Given the description of an element on the screen output the (x, y) to click on. 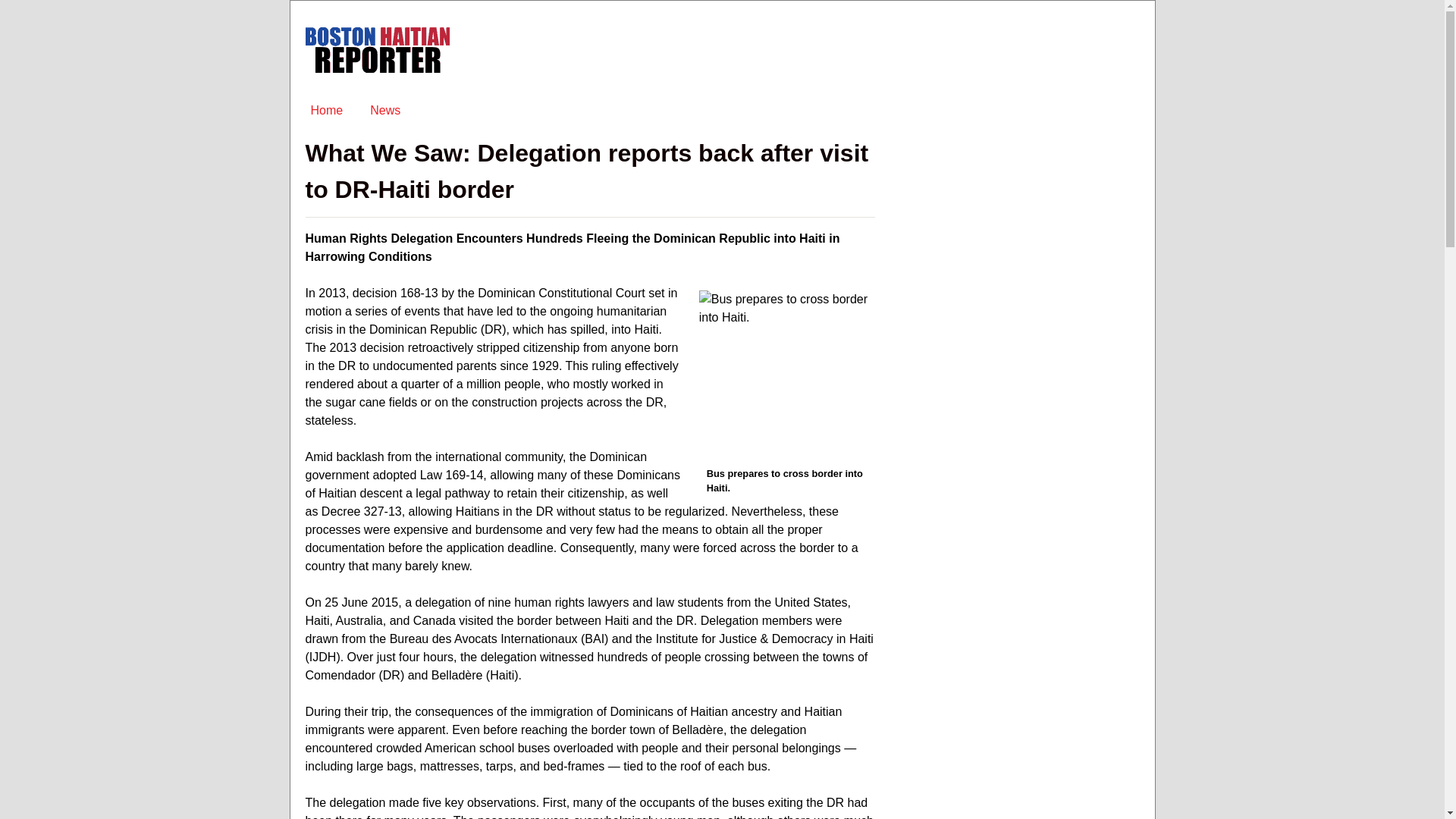
Bus prepares to cross border into Haiti. (784, 375)
News (385, 110)
3rd party ad content (1034, 445)
Home (326, 110)
3rd party ad content (1034, 244)
3rd party ad content (862, 49)
News (385, 110)
